Given the description of an element on the screen output the (x, y) to click on. 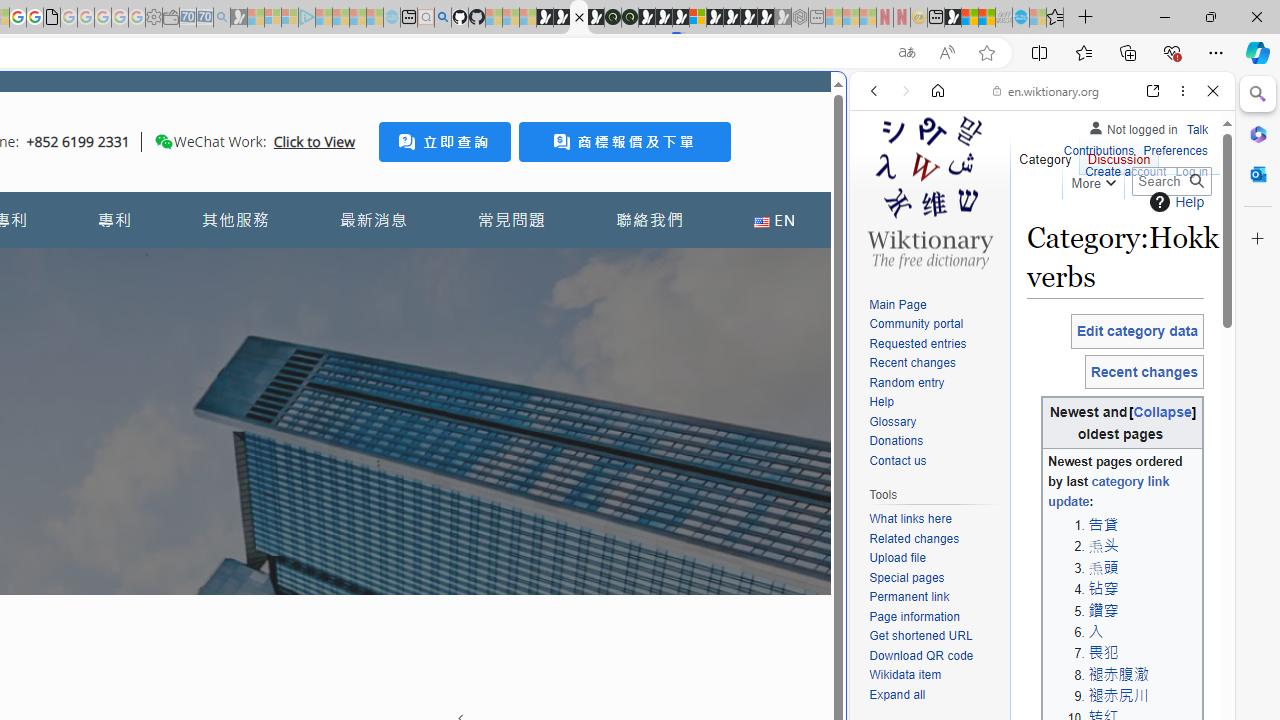
Discussion (1118, 154)
Upload file (897, 557)
Category (1045, 154)
Download QR code (934, 655)
EN (774, 220)
Expand all (934, 695)
Permanent link (934, 597)
